Given the description of an element on the screen output the (x, y) to click on. 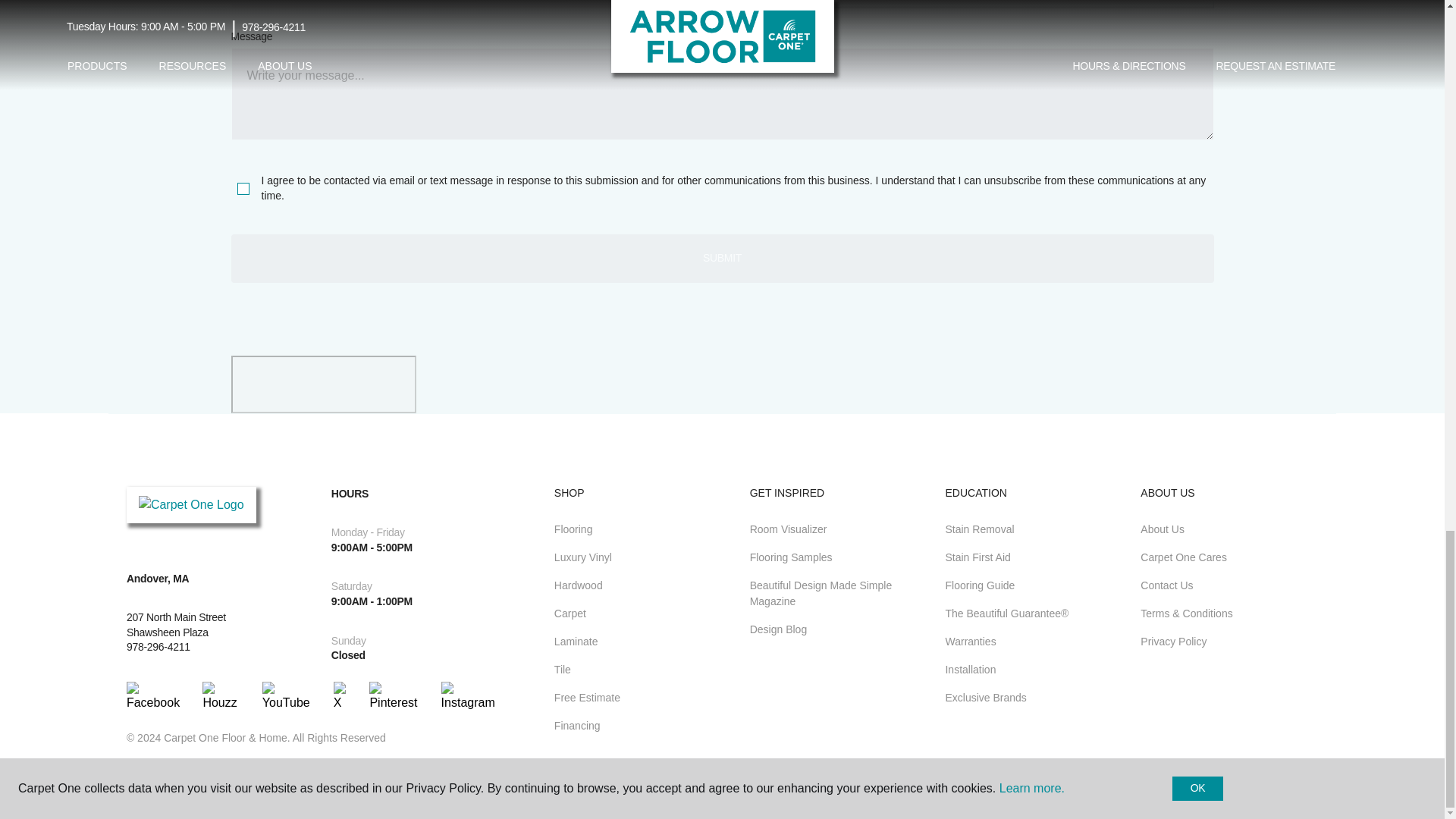
PostalCode (471, 4)
MyMessage (721, 93)
